Given the description of an element on the screen output the (x, y) to click on. 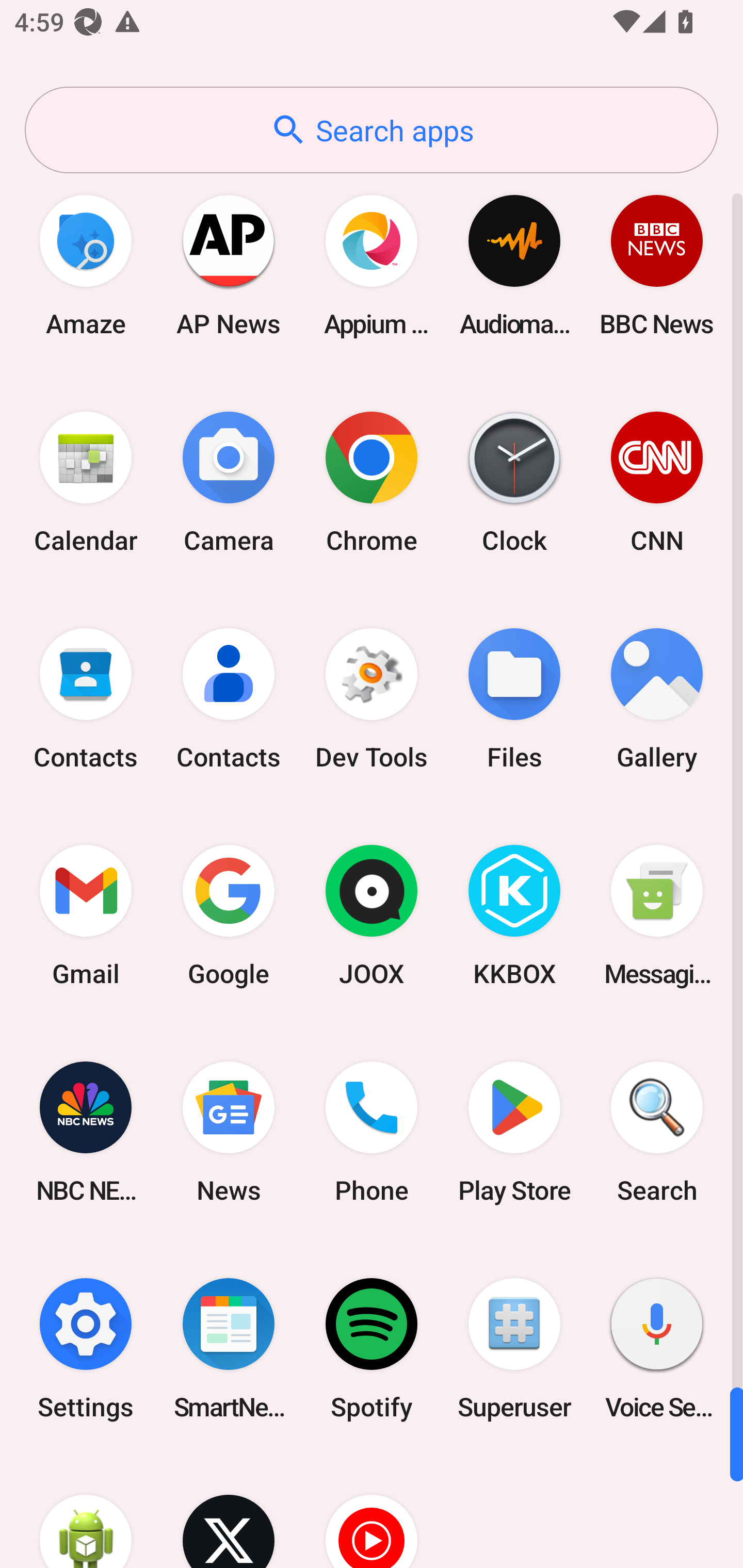
  Search apps (371, 130)
Amaze (85, 264)
AP News (228, 264)
Appium Settings (371, 264)
Audio­mack (514, 264)
BBC News (656, 264)
Calendar (85, 482)
Camera (228, 482)
Chrome (371, 482)
Clock (514, 482)
CNN (656, 482)
Contacts (85, 699)
Contacts (228, 699)
Dev Tools (371, 699)
Files (514, 699)
Gallery (656, 699)
Gmail (85, 915)
Google (228, 915)
JOOX (371, 915)
KKBOX (514, 915)
Messaging (656, 915)
NBC NEWS (85, 1131)
News (228, 1131)
Phone (371, 1131)
Play Store (514, 1131)
Search (656, 1131)
Settings (85, 1348)
SmartNews (228, 1348)
Spotify (371, 1348)
Superuser (514, 1348)
Voice Search (656, 1348)
WebView Browser Tester (85, 1512)
X (228, 1512)
YT Music (371, 1512)
